Given the description of an element on the screen output the (x, y) to click on. 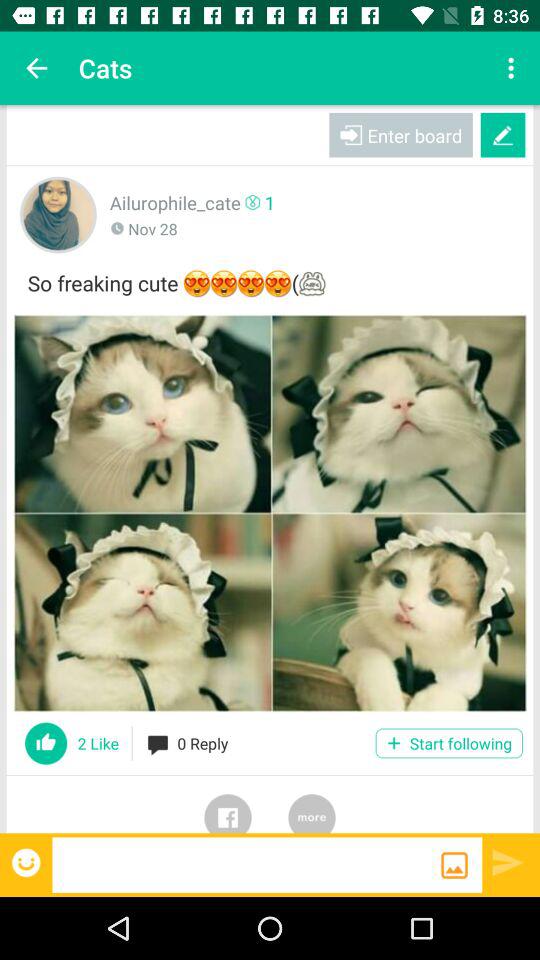
pictures (269, 513)
